Given the description of an element on the screen output the (x, y) to click on. 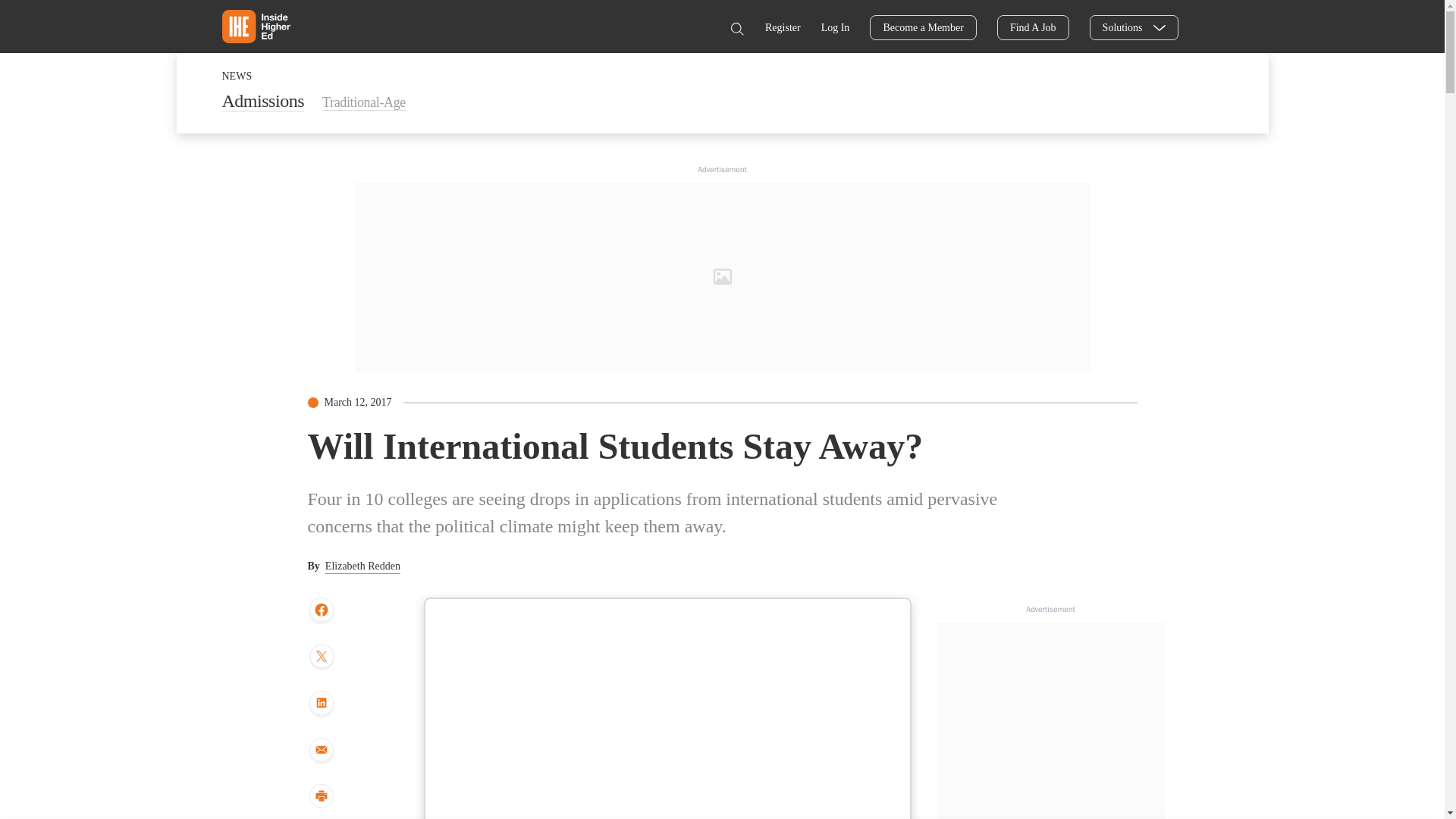
share to Linkedin (320, 704)
share by email (320, 750)
Become a Member (922, 27)
Home (255, 26)
share to facebook (320, 610)
share to twitter (320, 657)
Find A Job (1032, 27)
Search (736, 28)
